Given the description of an element on the screen output the (x, y) to click on. 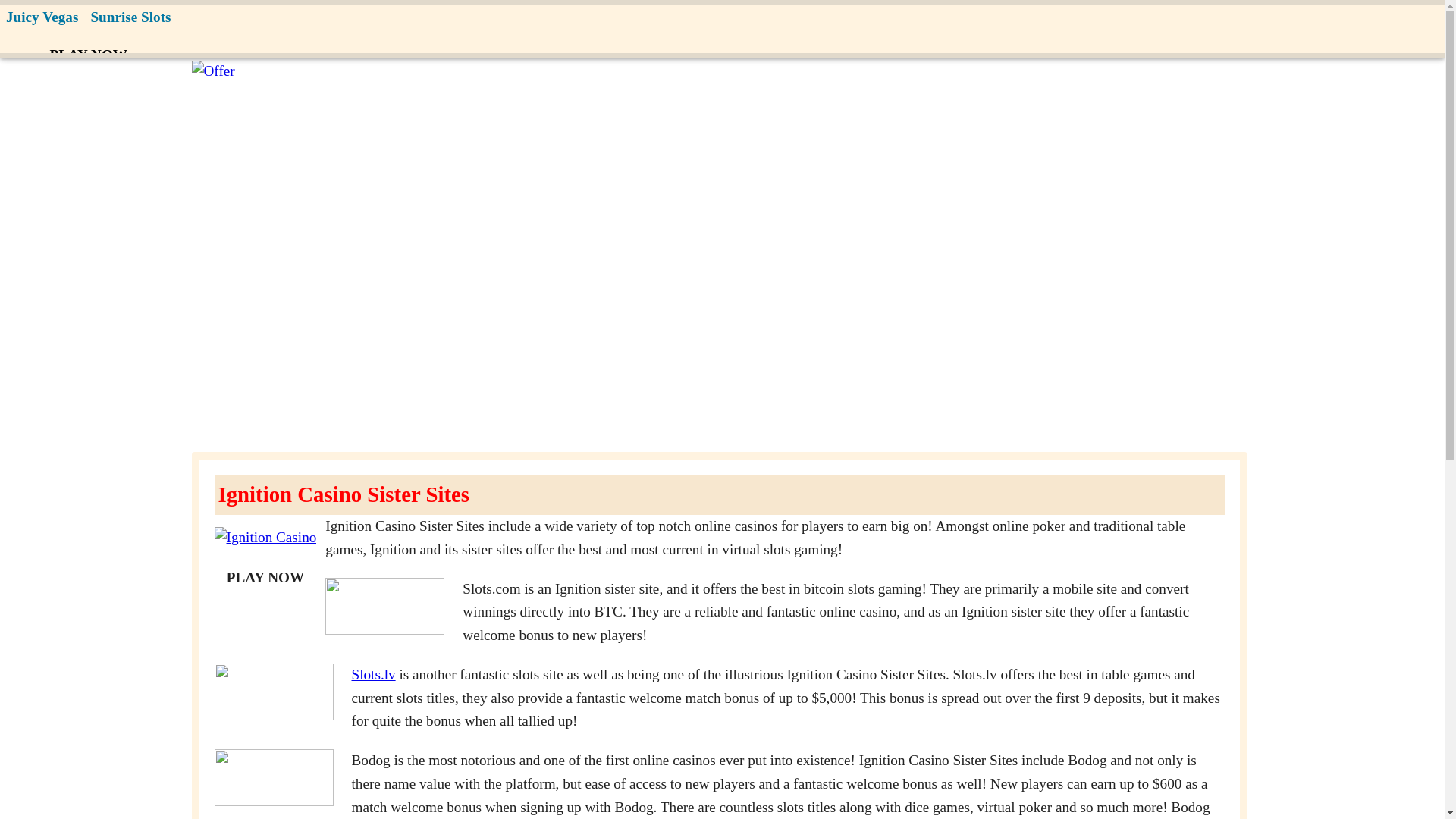
Juicy Vegas (42, 18)
PLAY NOW (266, 578)
PLAY NOW (88, 55)
Sunrise Slots (130, 18)
Slots.lv (374, 674)
